Given the description of an element on the screen output the (x, y) to click on. 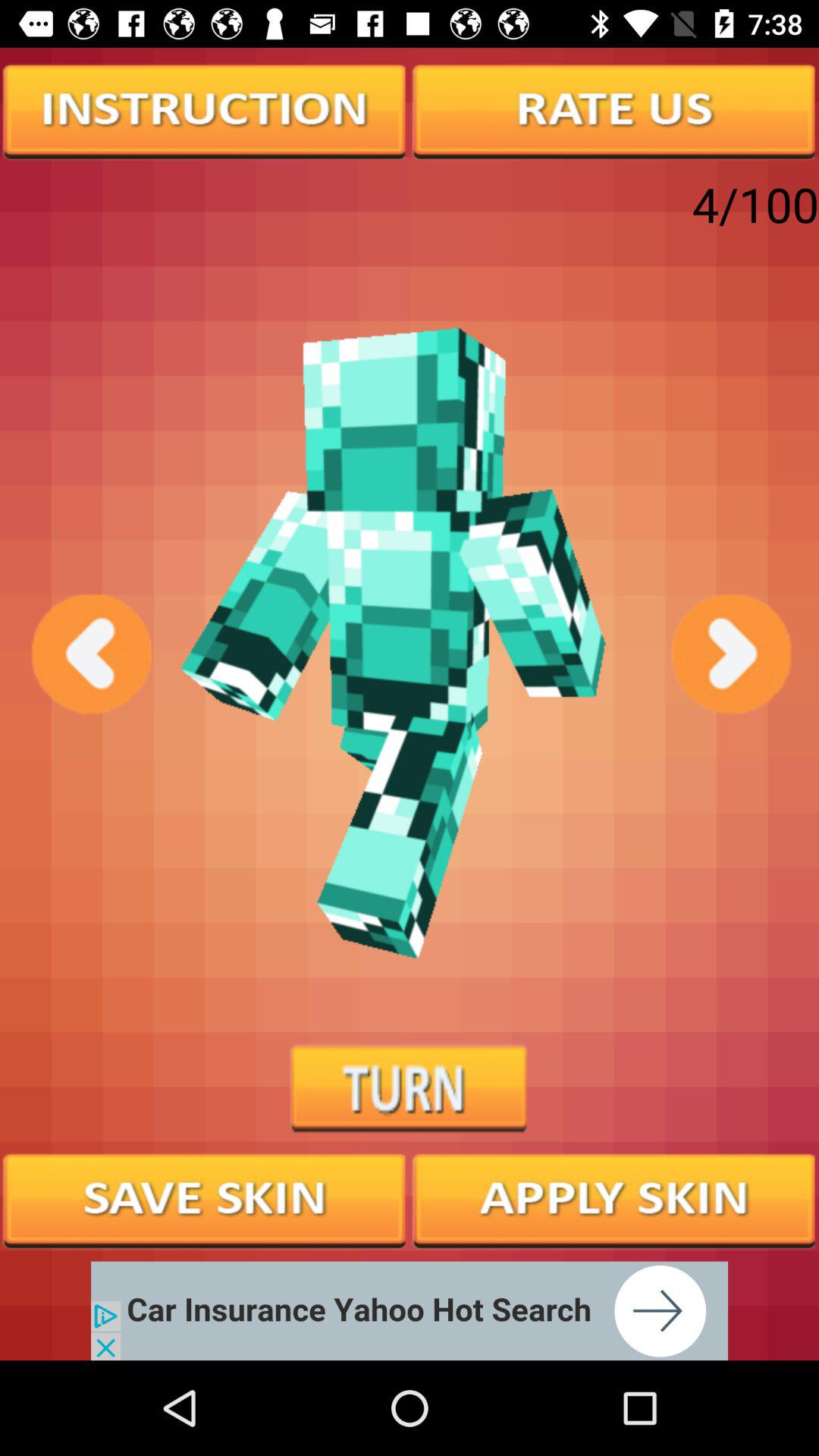
select option (614, 1198)
